Given the description of an element on the screen output the (x, y) to click on. 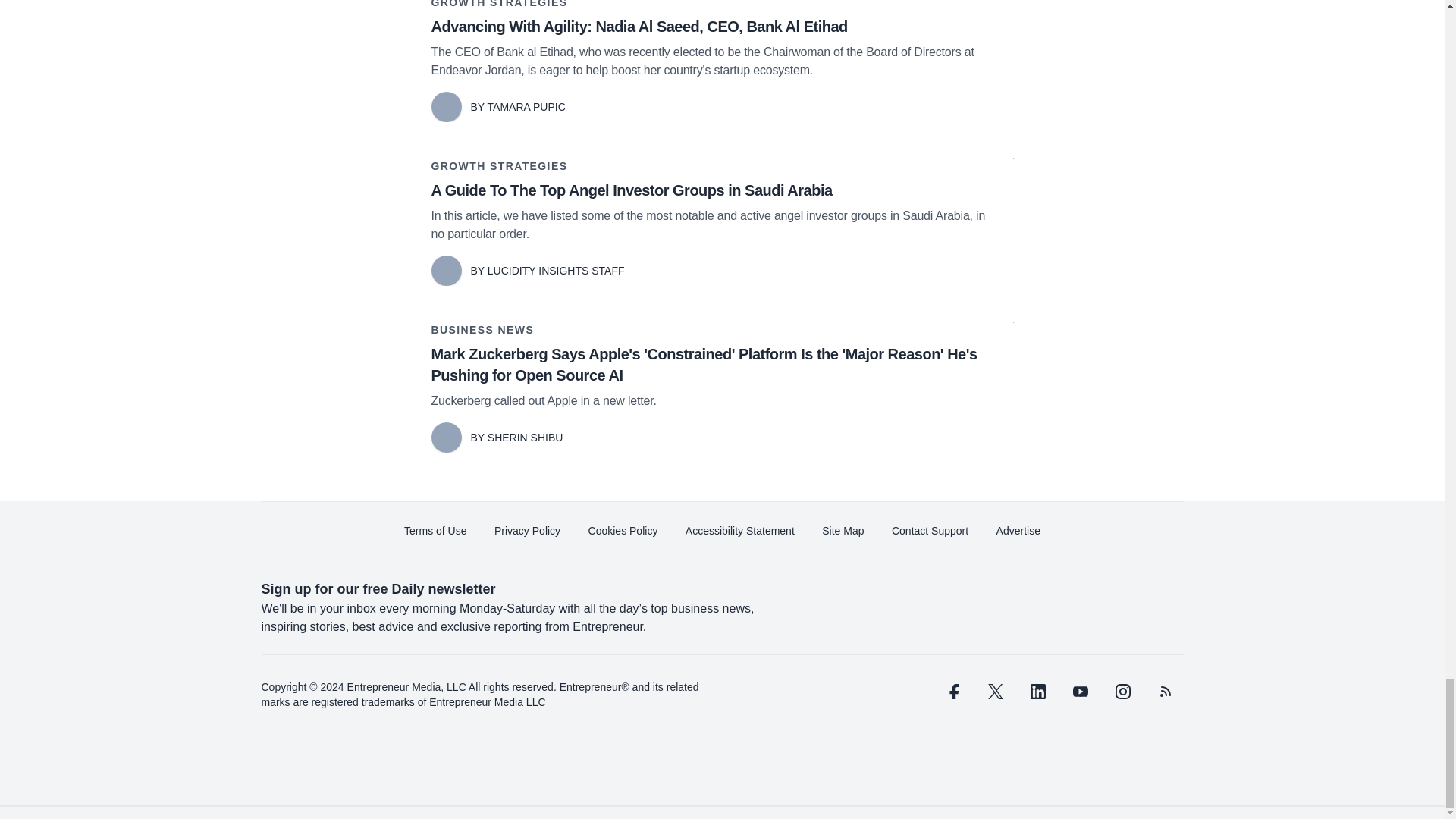
linkedin (1037, 691)
instagram (1121, 691)
twitter (994, 691)
rss (1164, 691)
youtube (1079, 691)
facebook (952, 691)
